Given the description of an element on the screen output the (x, y) to click on. 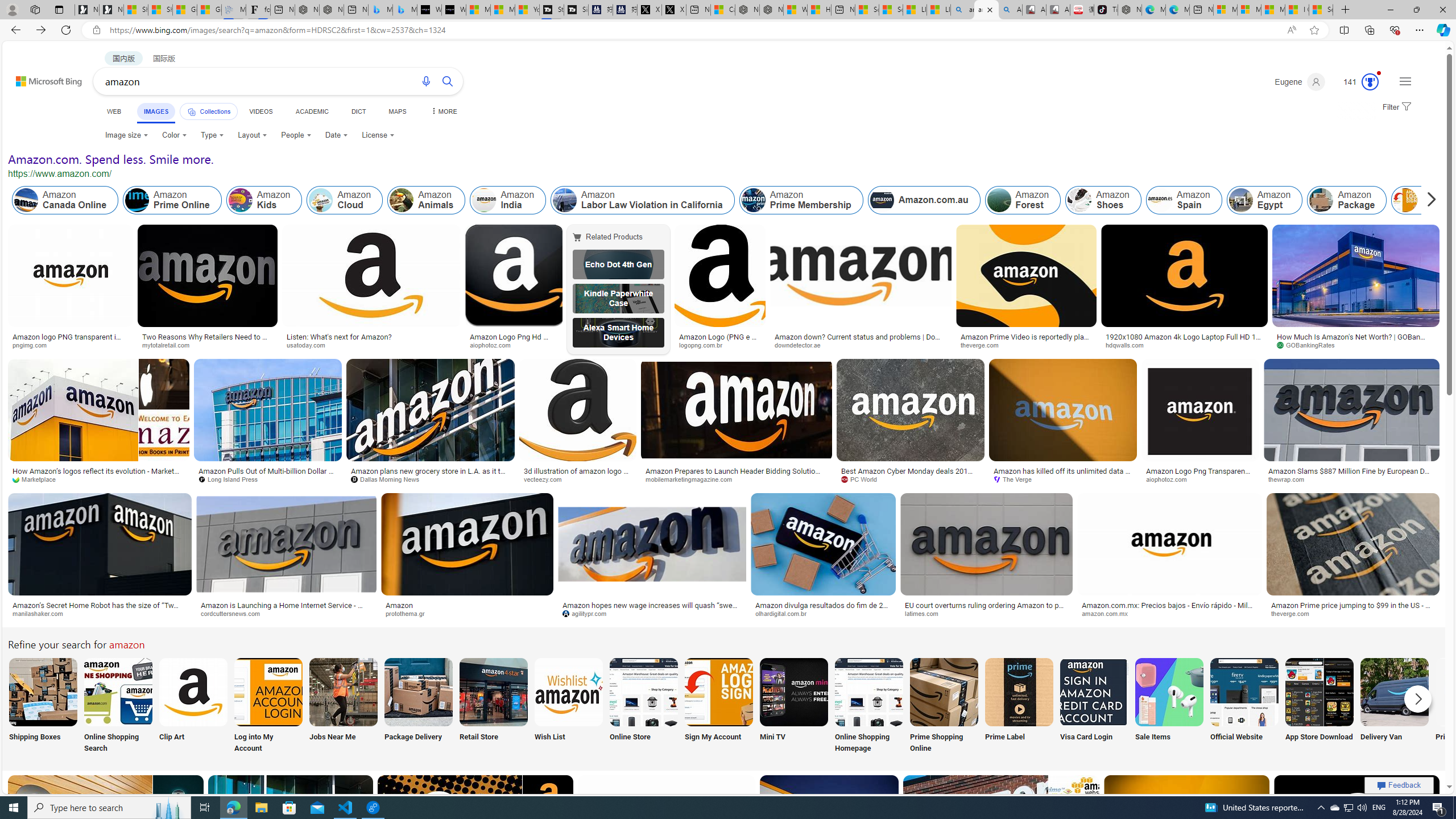
Amazon Prime price jumping to $99 in the US - The Verge (1352, 608)
GOBankingRates (1309, 344)
Amazon Online Store Online Store (644, 706)
Amazon Clip Art (192, 691)
Feedback (1399, 785)
thewrap.com (1289, 479)
Amazon Echo Robot - Search Images (1009, 9)
aiophotoz.com (1170, 479)
